Given the description of an element on the screen output the (x, y) to click on. 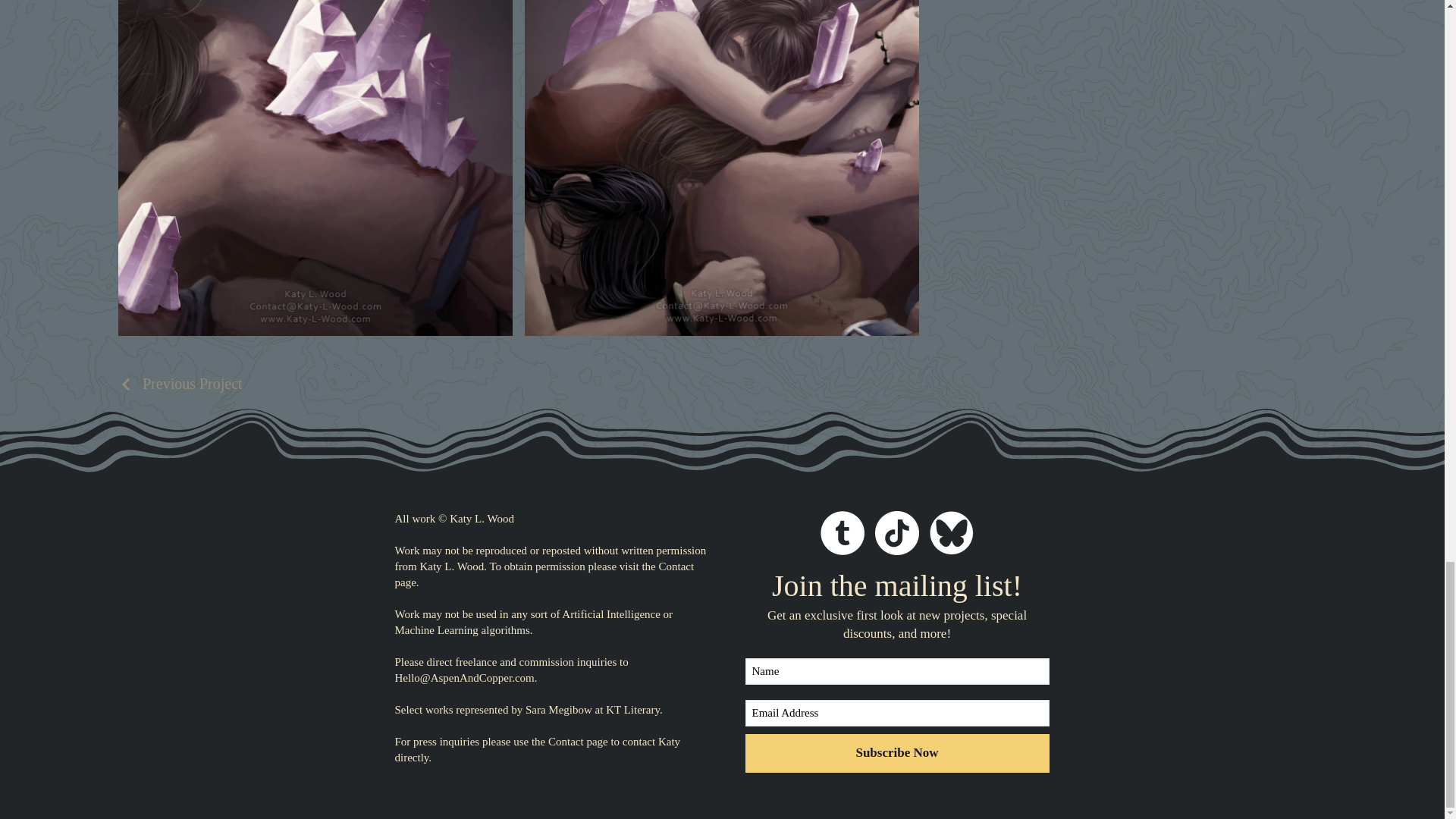
Contact (565, 741)
KT Literary (632, 709)
Subscribe Now (896, 753)
Contact (676, 566)
Previous Project (180, 384)
